Given the description of an element on the screen output the (x, y) to click on. 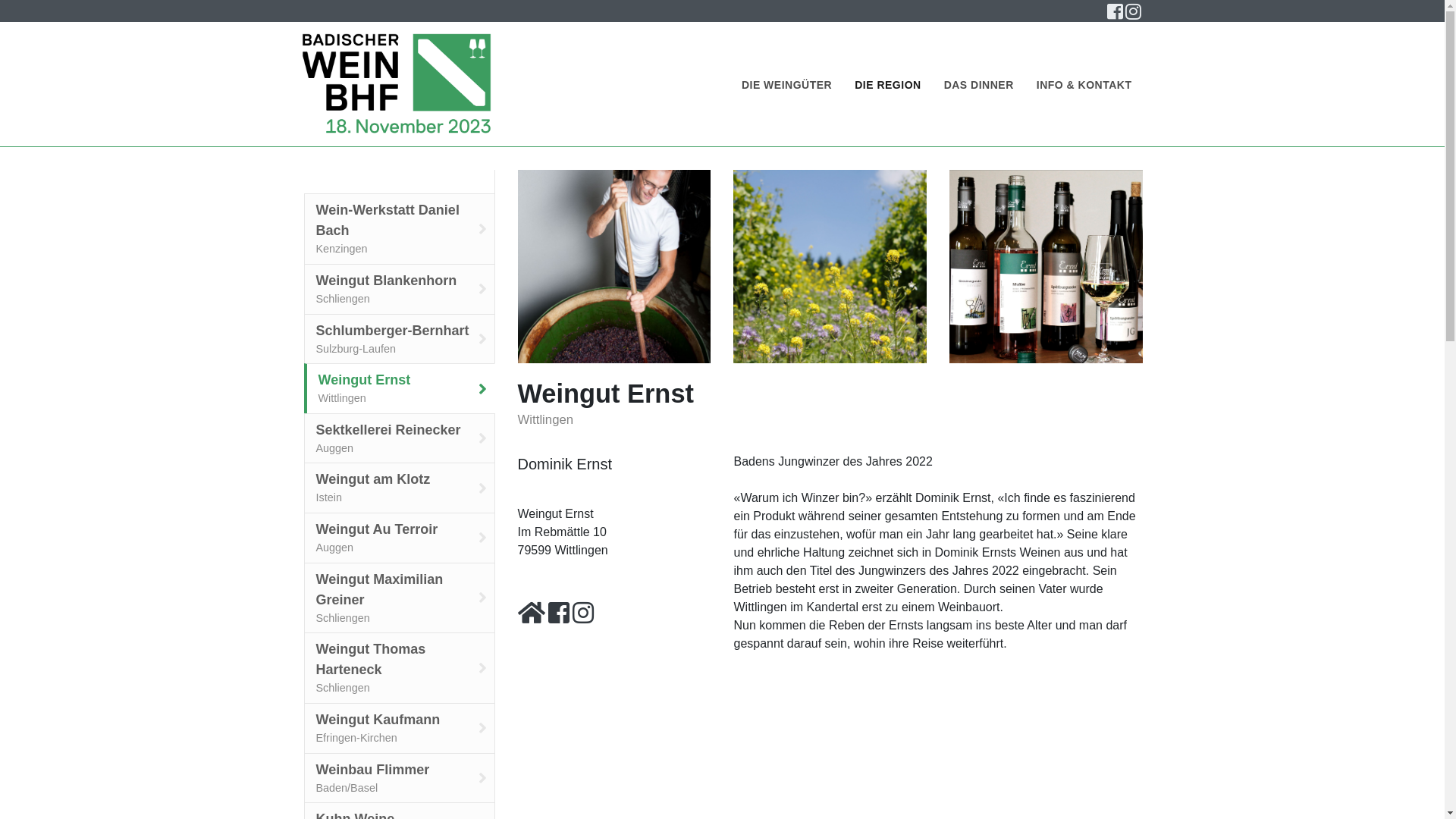
Sektkellerei Reinecker
Auggen Element type: text (398, 438)
Weingut Thomas Harteneck
Schliengen Element type: text (398, 667)
INFO & KONTAKT Element type: text (1388, 137)
DAS DINNER Element type: text (1388, 97)
Wein-Werkstatt Daniel Bach
Kenzingen Element type: text (398, 228)
Twitter Element type: text (1134, 10)
Weingut Maximilian Greiner
Schliengen Element type: text (398, 597)
DIE REGION Element type: text (887, 84)
Facebook Element type: text (1116, 10)
Weingut Au Terroir
Auggen Element type: text (398, 537)
DAS DINNER Element type: text (978, 84)
INFO & KONTAKT Element type: text (1084, 84)
DIE REGION Element type: text (1388, 58)
Weingut am Klotz
Istein Element type: text (398, 487)
Weingut Ernst
Wittlingen Element type: text (398, 388)
Schlumberger-Bernhart
Sulzburg-Laufen Element type: text (398, 338)
Home Element type: hover (396, 83)
Weinbau Flimmer
Baden/Basel Element type: text (398, 778)
Weingut Blankenhorn
Schliengen Element type: text (398, 288)
Weingut Kaufmann
Efringen-Kirchen Element type: text (398, 727)
